Given the description of an element on the screen output the (x, y) to click on. 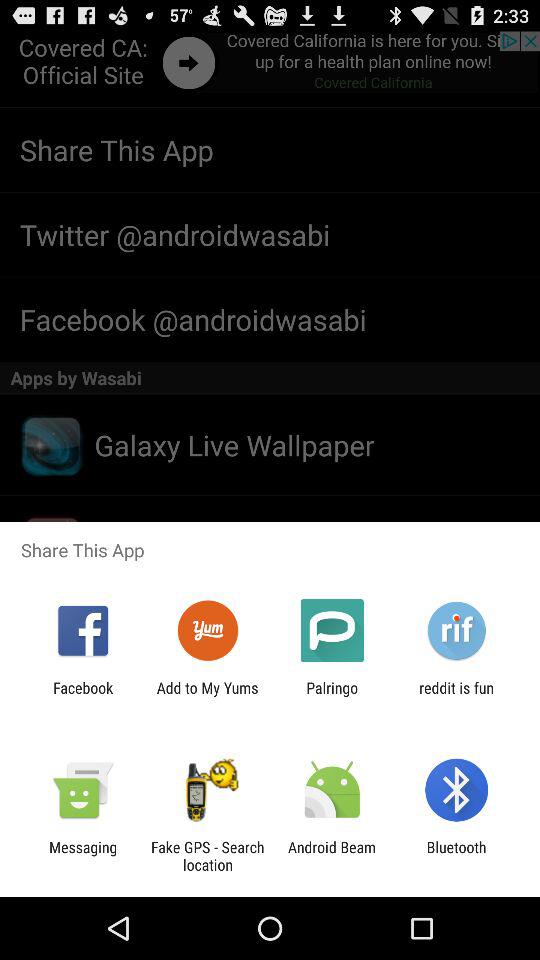
turn off icon to the left of palringo icon (207, 696)
